Given the description of an element on the screen output the (x, y) to click on. 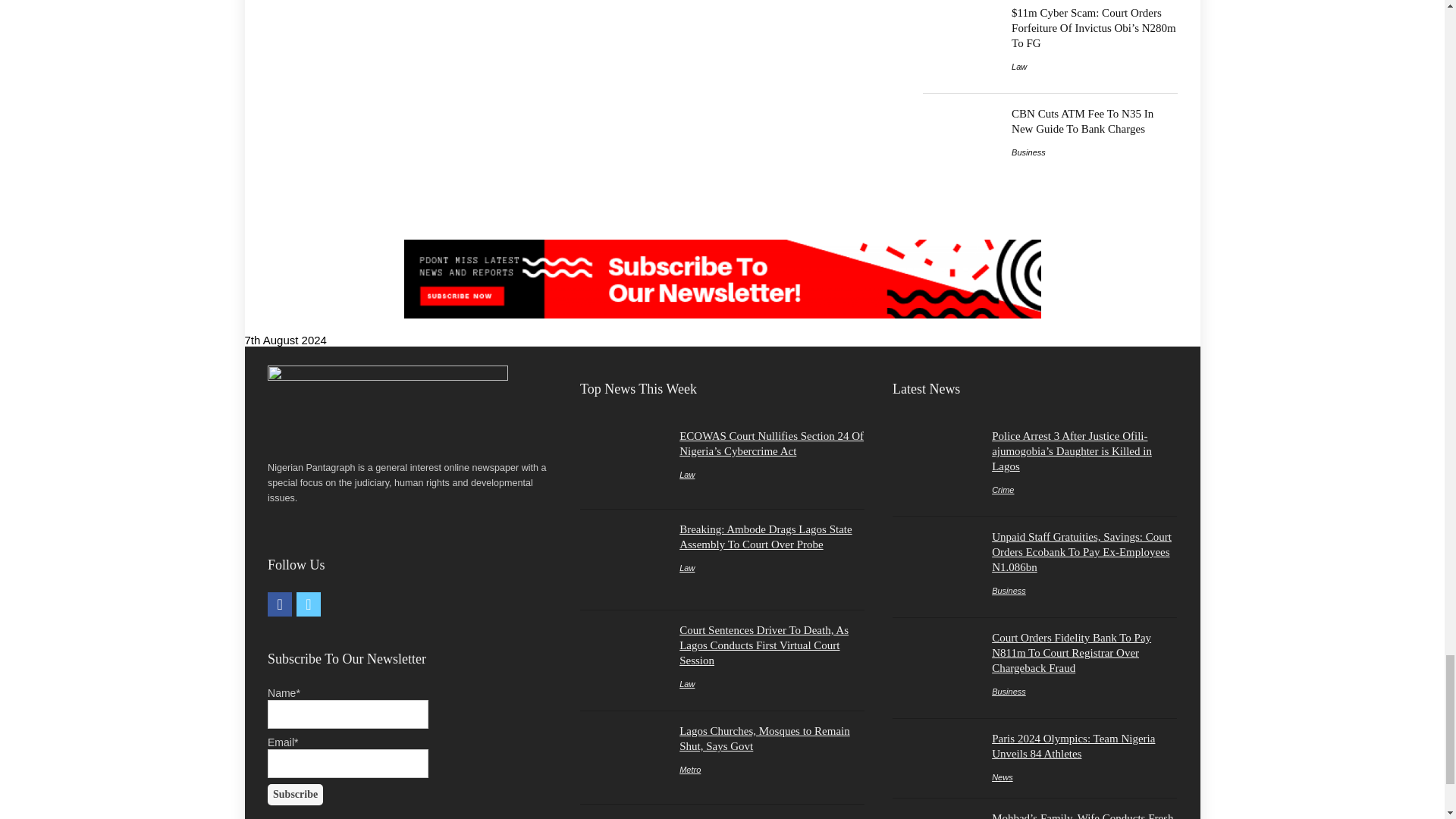
Subscribe (295, 794)
